Given the description of an element on the screen output the (x, y) to click on. 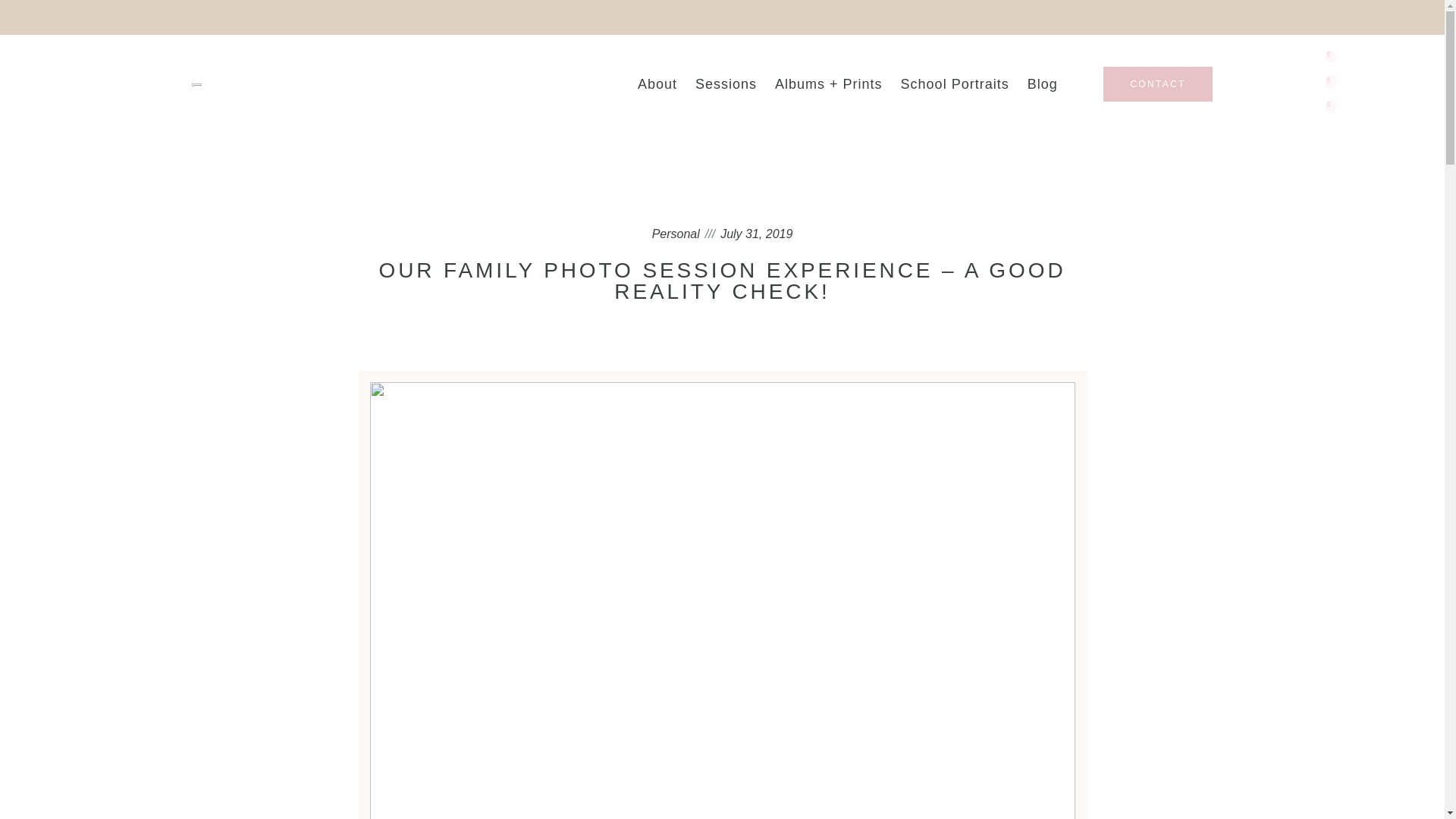
About (656, 83)
CONTACT (1157, 83)
School Portraits (954, 83)
Sessions (725, 83)
8:09 PM (756, 233)
Blog (1042, 83)
